Given the description of an element on the screen output the (x, y) to click on. 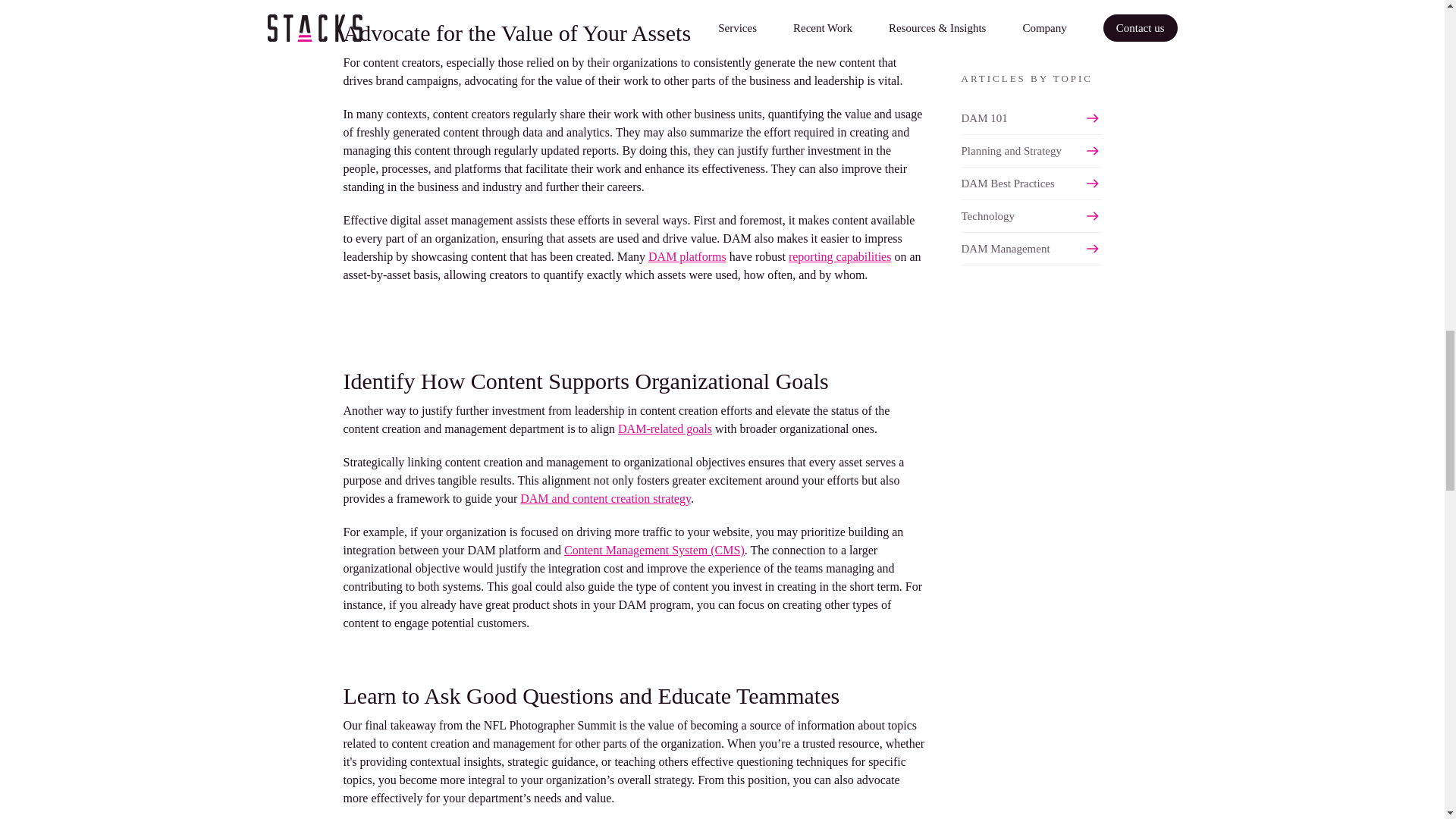
DAM-related goals (664, 428)
reporting capabilities (840, 256)
DAM and content creation strategy (604, 498)
DAM platforms (686, 256)
